Given the description of an element on the screen output the (x, y) to click on. 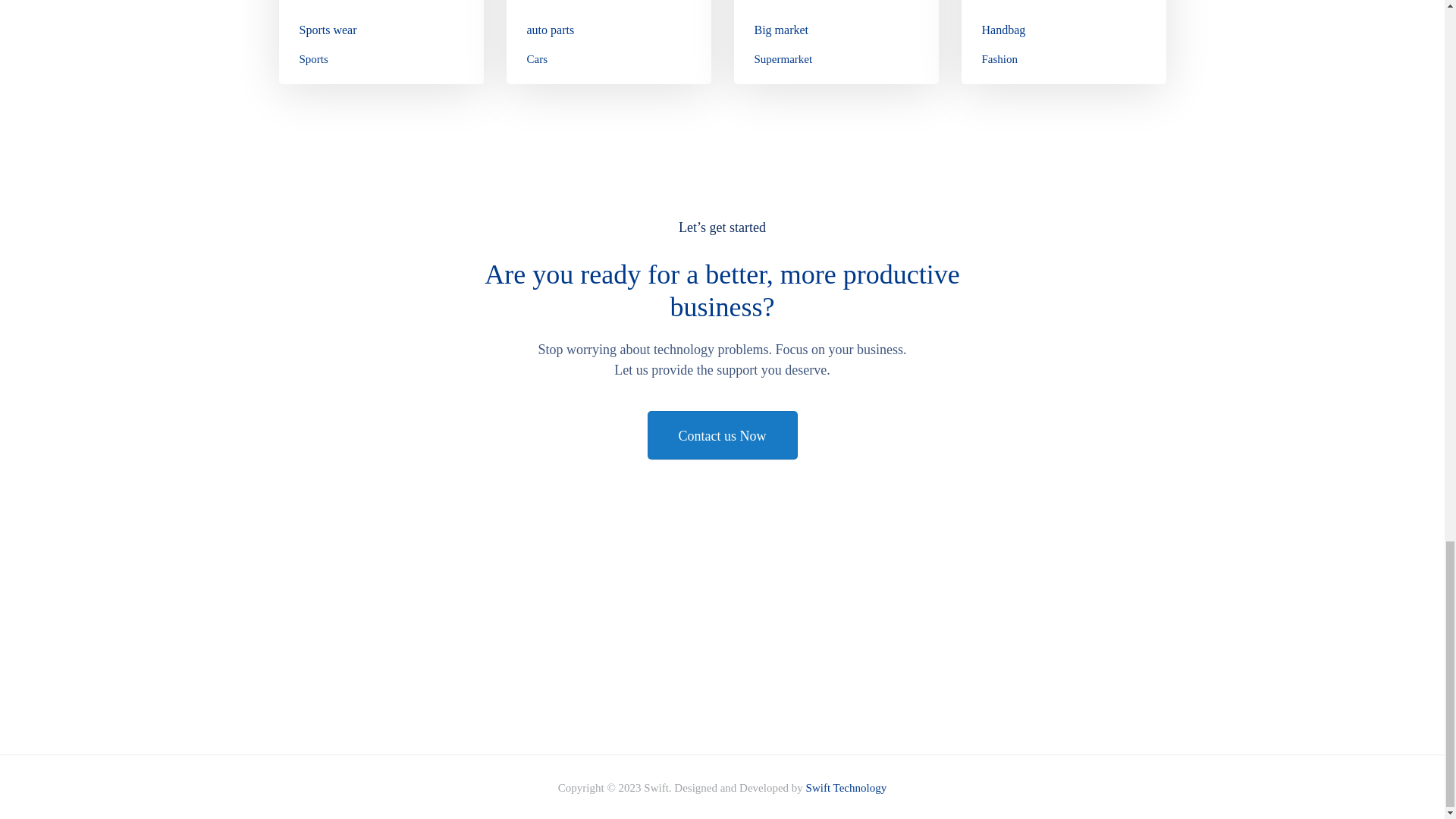
Sports wear (327, 29)
Sports (312, 59)
Cars (536, 59)
auto parts (549, 29)
